Given the description of an element on the screen output the (x, y) to click on. 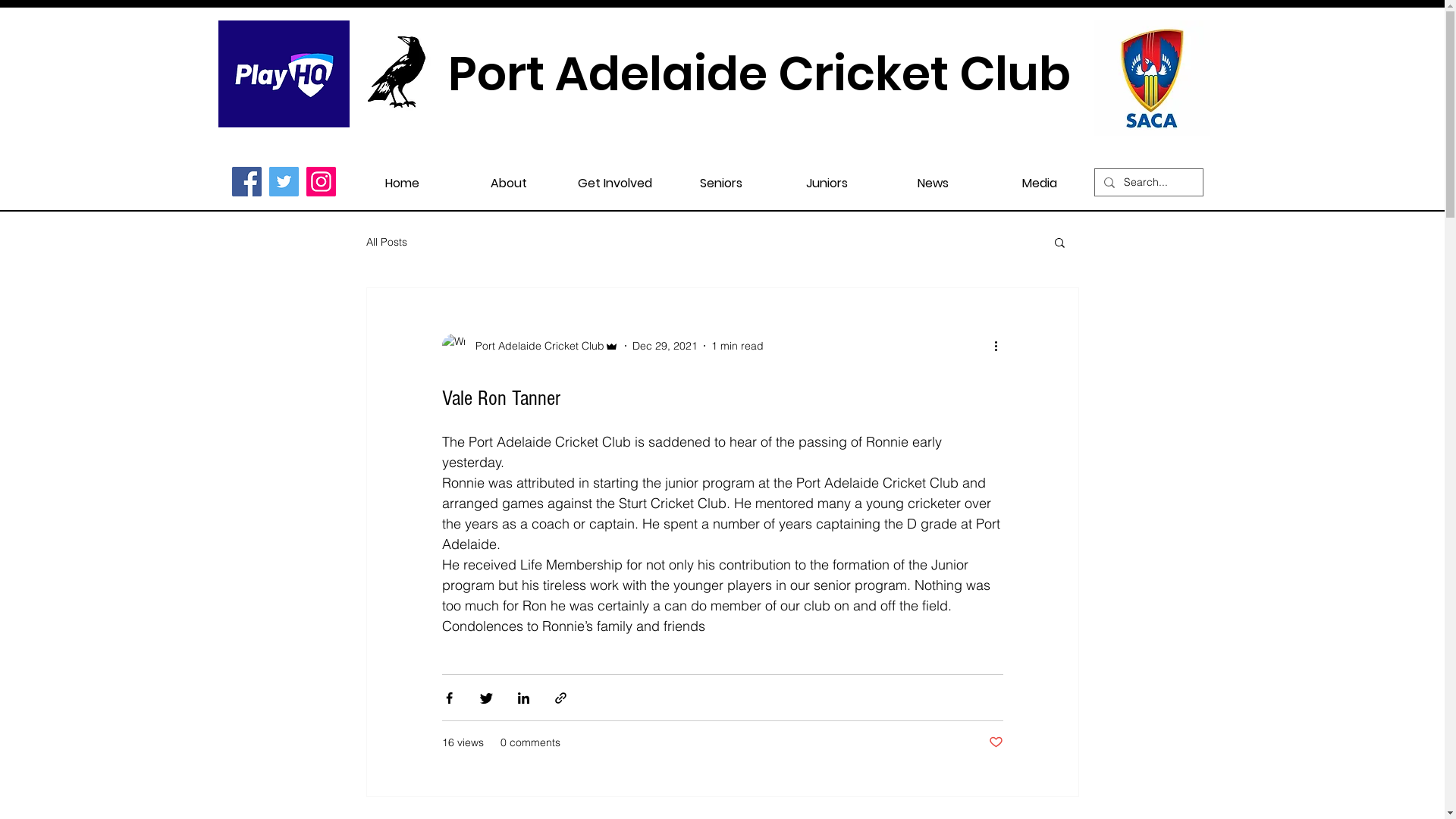
All Posts Element type: text (385, 241)
Port Adelaide Cricket Club Element type: text (529, 345)
Post not marked as liked Element type: text (995, 742)
Home Element type: text (401, 175)
magpie.jpg Element type: hover (397, 73)
